Given the description of an element on the screen output the (x, y) to click on. 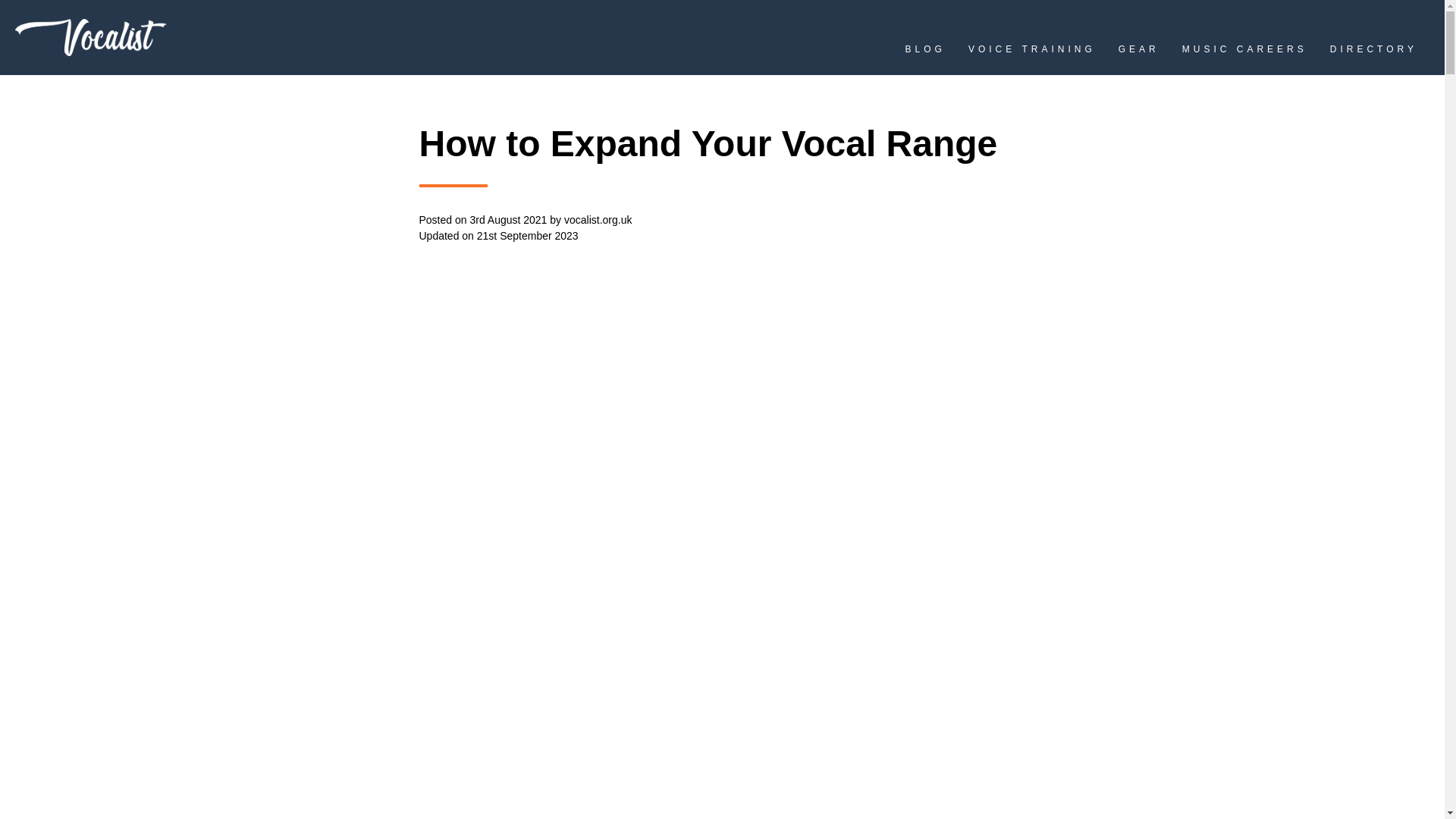
BLOG (924, 52)
MUSIC CAREERS (1244, 52)
VOICE TRAINING (1032, 52)
3rd August 2021 (507, 219)
DIRECTORY (1373, 52)
GEAR (1138, 52)
vocalist.org.uk (597, 219)
